Given the description of an element on the screen output the (x, y) to click on. 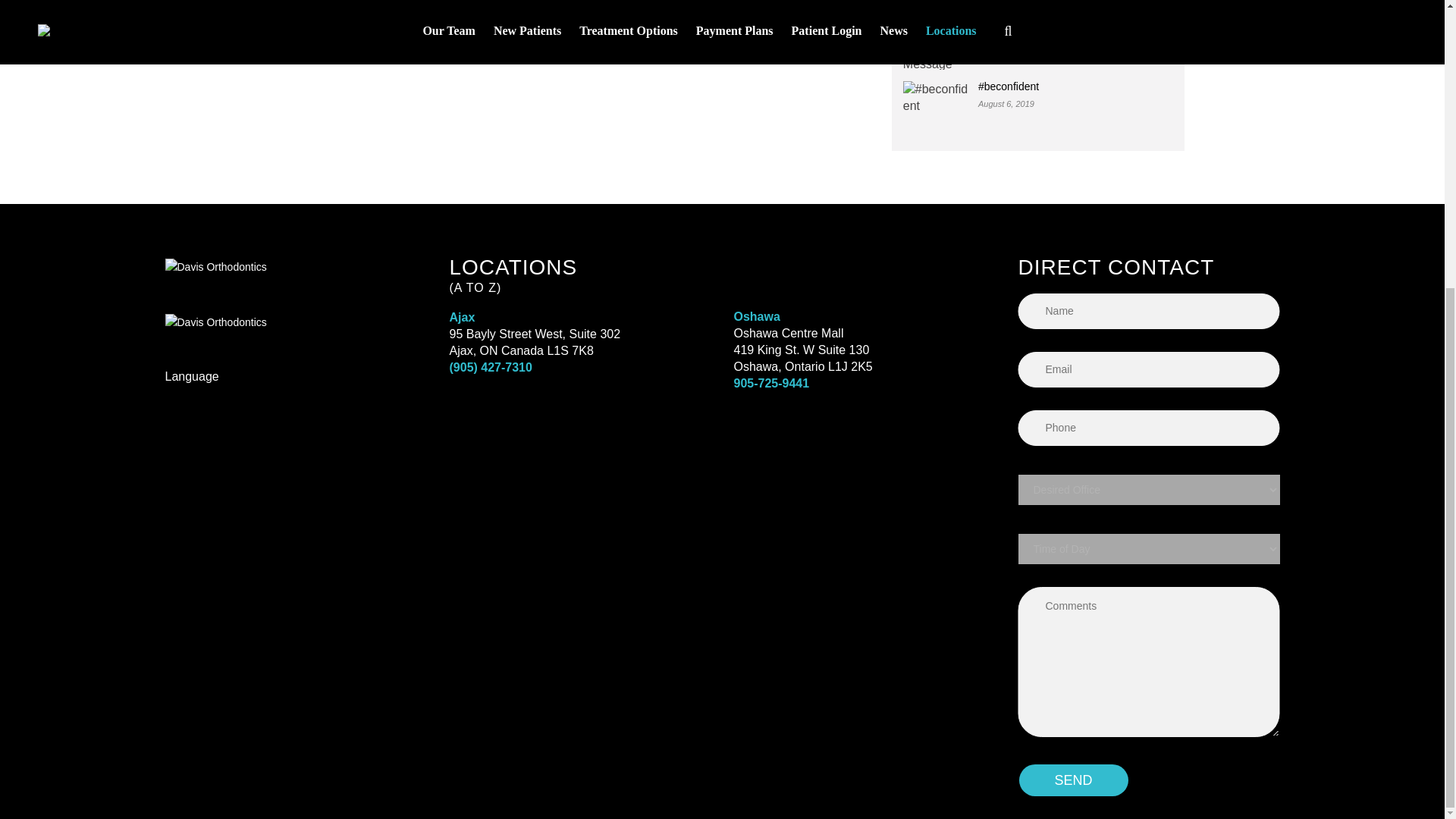
Send (1071, 780)
